Given the description of an element on the screen output the (x, y) to click on. 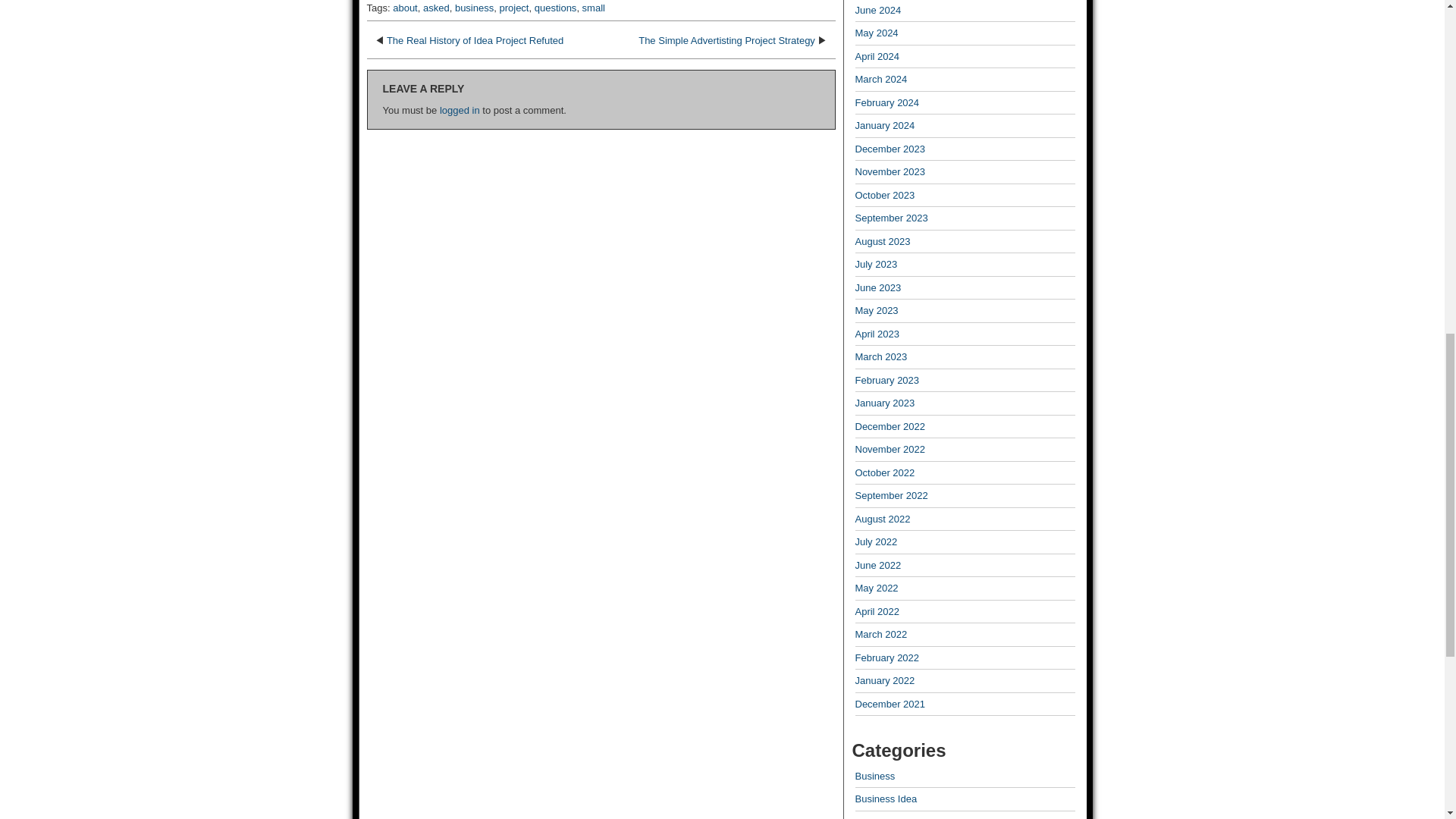
project (513, 7)
The Simple Advertisting Project Strategy (727, 40)
June 2024 (878, 9)
March 2024 (881, 79)
questions (555, 7)
The Real History of Idea Project Refuted (475, 40)
May 2024 (877, 32)
asked (436, 7)
logged in (459, 110)
business (473, 7)
small (593, 7)
about (405, 7)
April 2024 (877, 56)
